Given the description of an element on the screen output the (x, y) to click on. 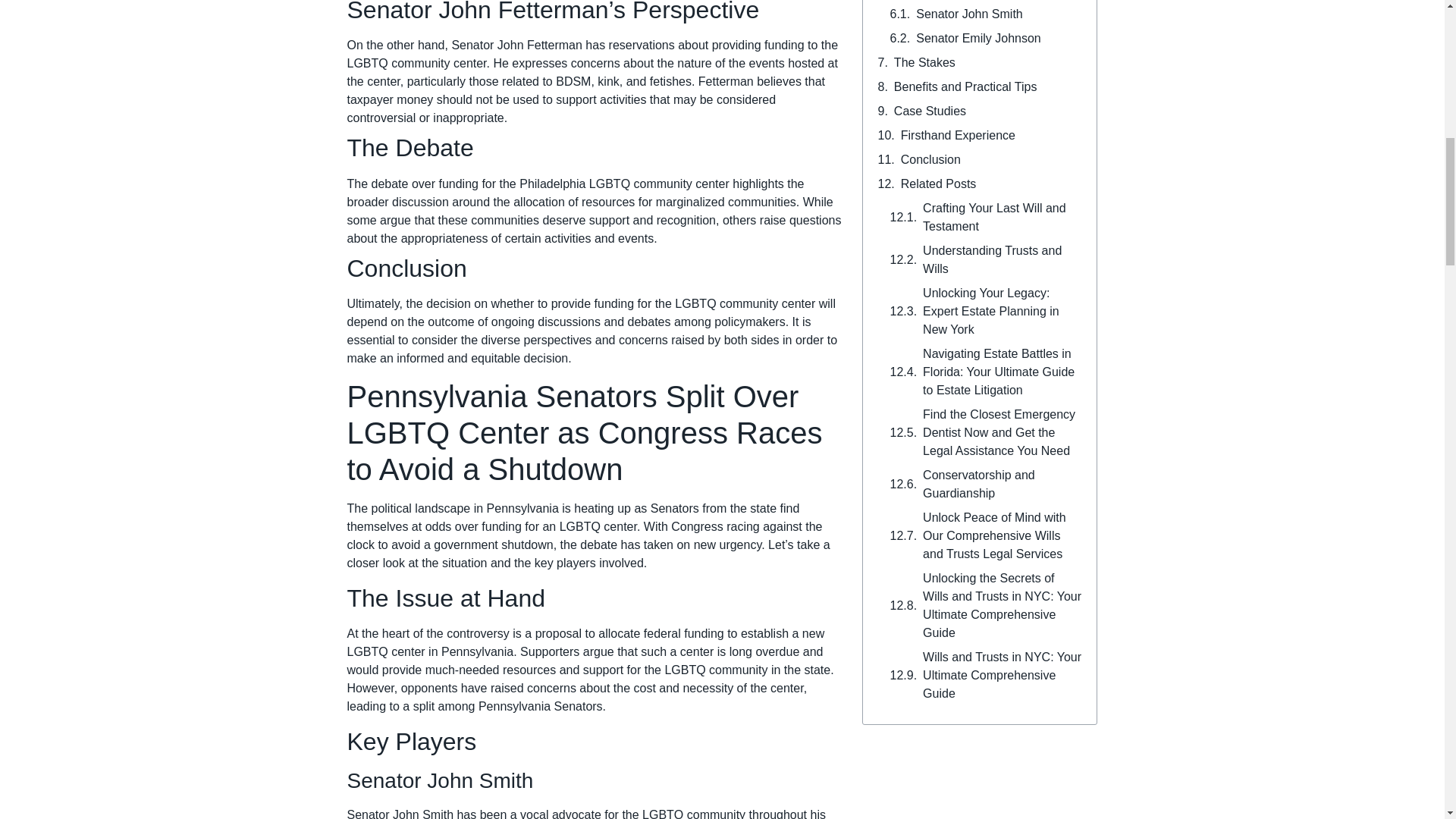
Conclusion (930, 159)
Firsthand Experience (957, 135)
Senator Emily Johnson (978, 38)
Understanding Trusts and Wills (1002, 259)
Senator John Smith (969, 13)
Wills and Trusts in NYC: Your Ultimate Comprehensive Guide (1002, 675)
Conservatorship and Guardianship (1002, 484)
The Stakes (924, 63)
Related Posts (938, 184)
Crafting Your Last Will and Testament (1002, 217)
Case Studies (929, 111)
Benefits and Practical Tips (964, 86)
